Given the description of an element on the screen output the (x, y) to click on. 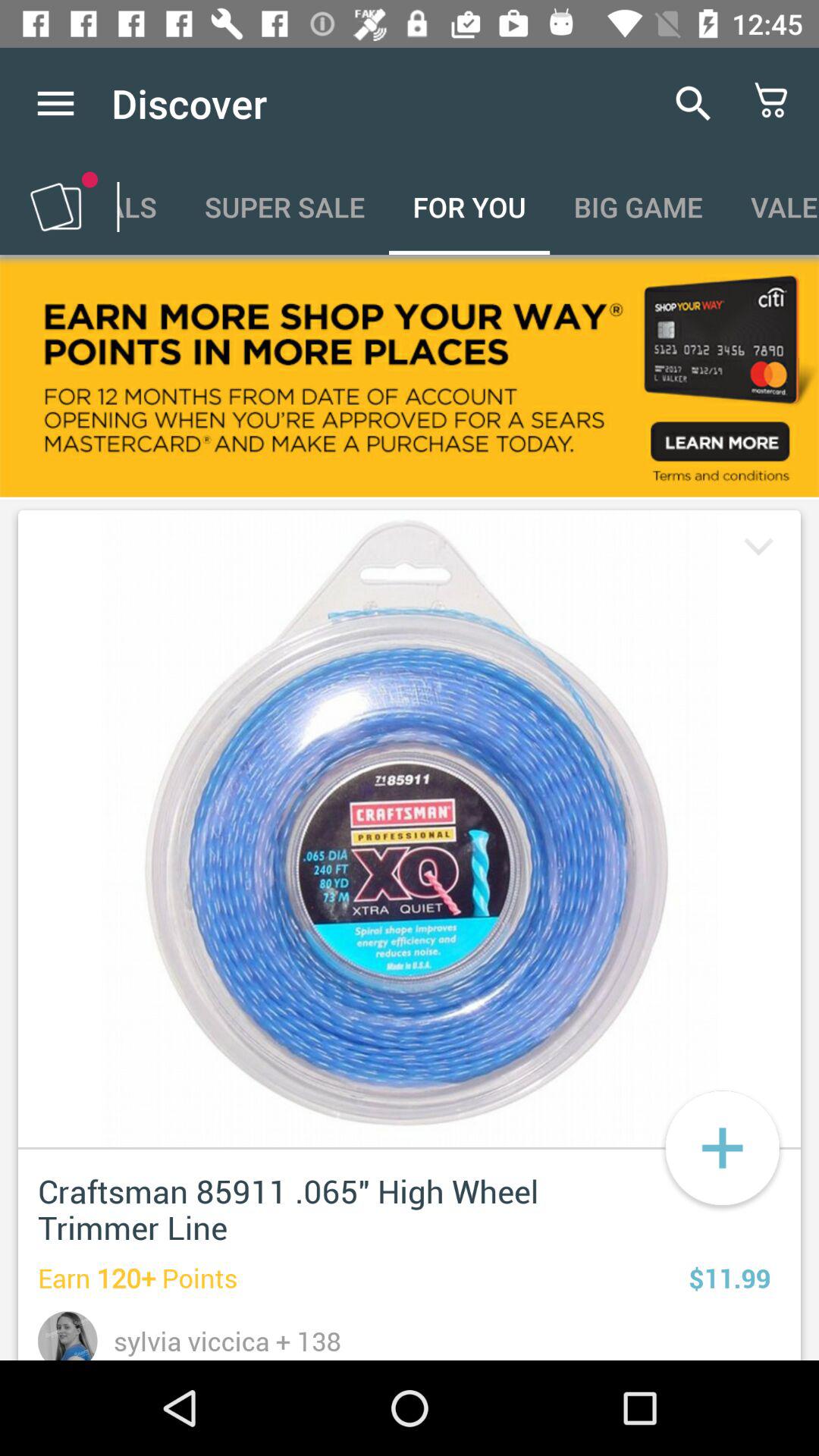
down arrow (755, 549)
